Given the description of an element on the screen output the (x, y) to click on. 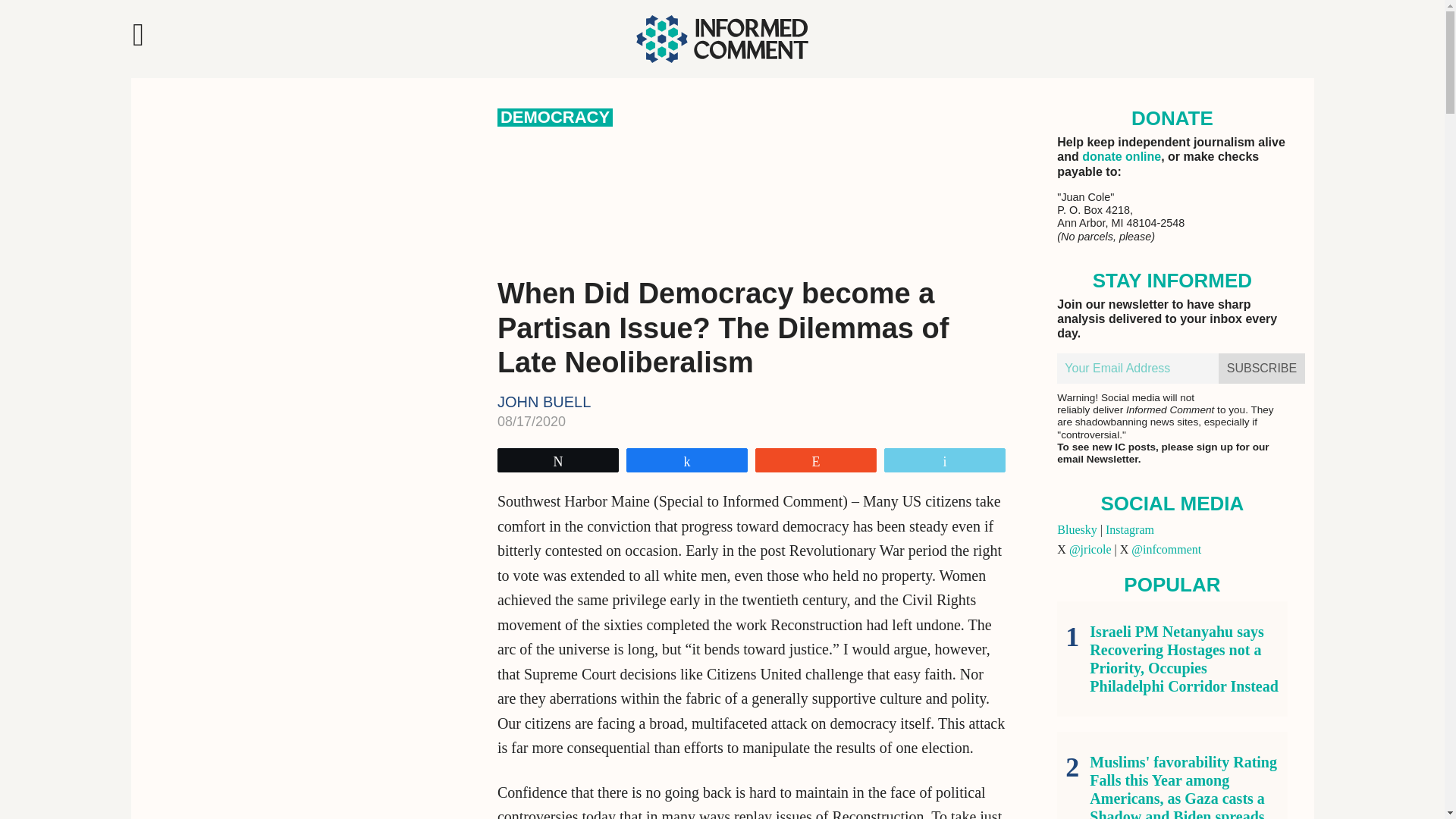
donate online (1120, 155)
JOHN BUELL (544, 401)
Bluesky (1076, 529)
DEMOCRACY (554, 117)
subscribe (1262, 368)
subscribe (1262, 368)
